Given the description of an element on the screen output the (x, y) to click on. 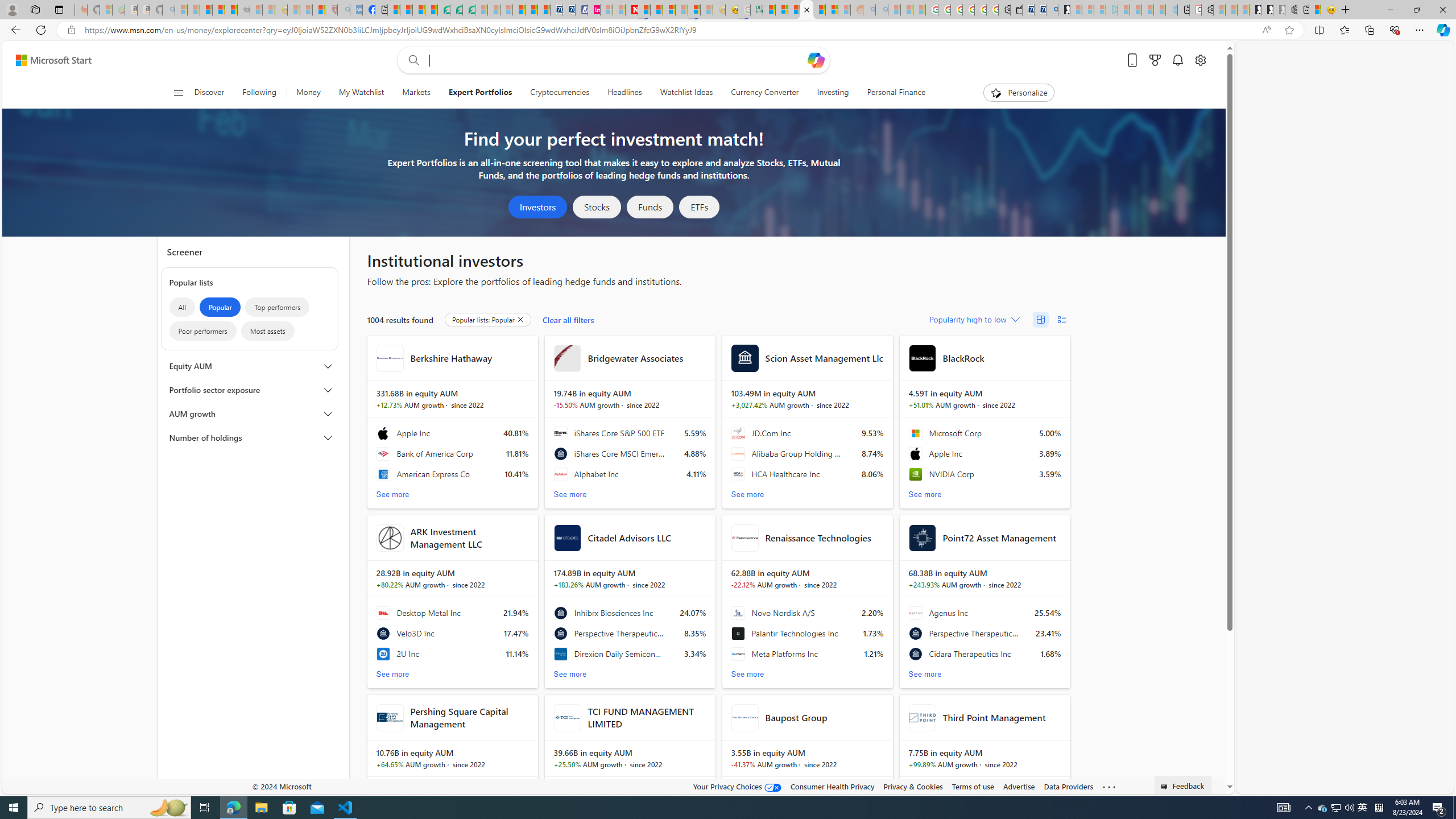
Expert Portfolios (480, 92)
Clear all filters (568, 319)
My Watchlist (360, 92)
Stocks (596, 206)
Investing (832, 92)
Markets (416, 92)
